Given the description of an element on the screen output the (x, y) to click on. 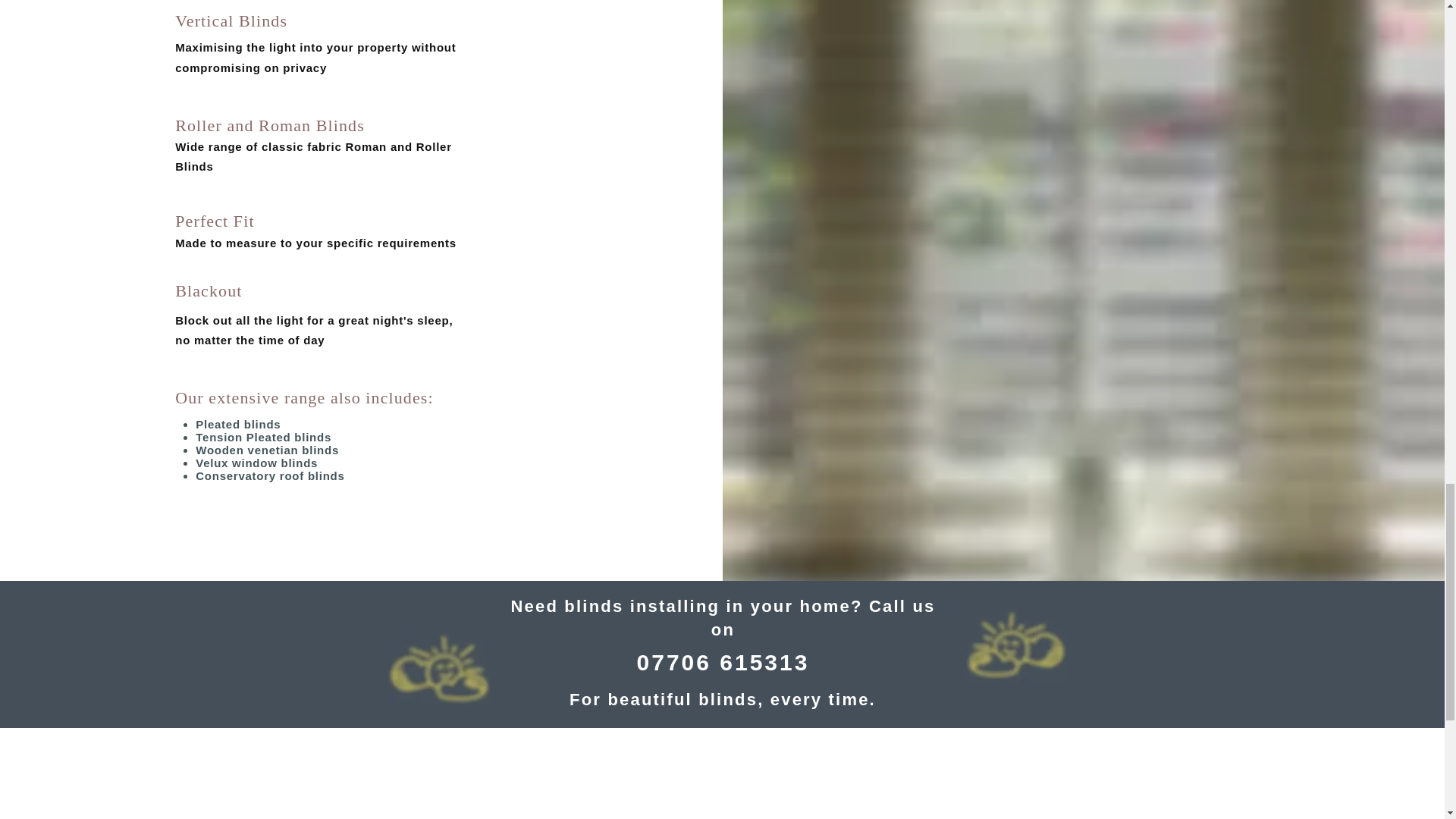
07706 615313 (723, 662)
